Given the description of an element on the screen output the (x, y) to click on. 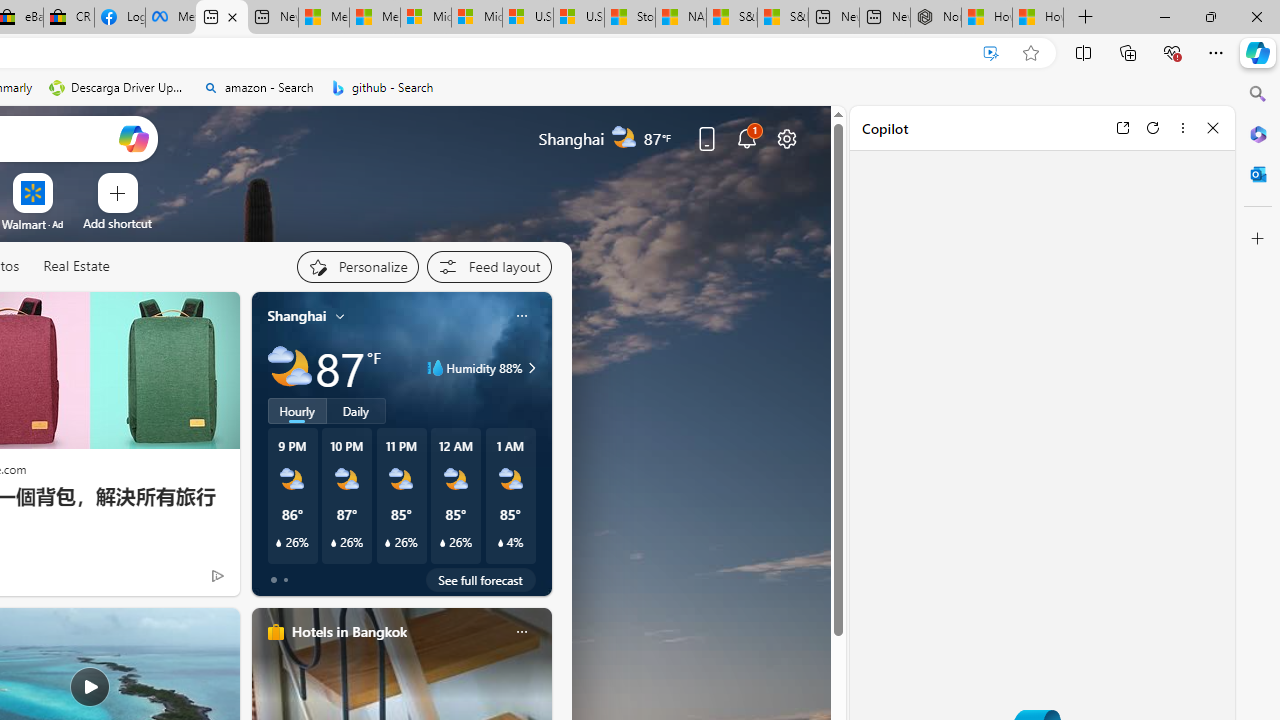
Page settings (786, 138)
github - Search (381, 88)
Open Copilot (132, 138)
Real Estate (76, 265)
Customize (1258, 239)
More options (1182, 127)
Minimize (1164, 16)
Shanghai (296, 315)
S&P 500, Nasdaq end lower, weighed by Nvidia dip | Watch (782, 17)
